Given the description of an element on the screen output the (x, y) to click on. 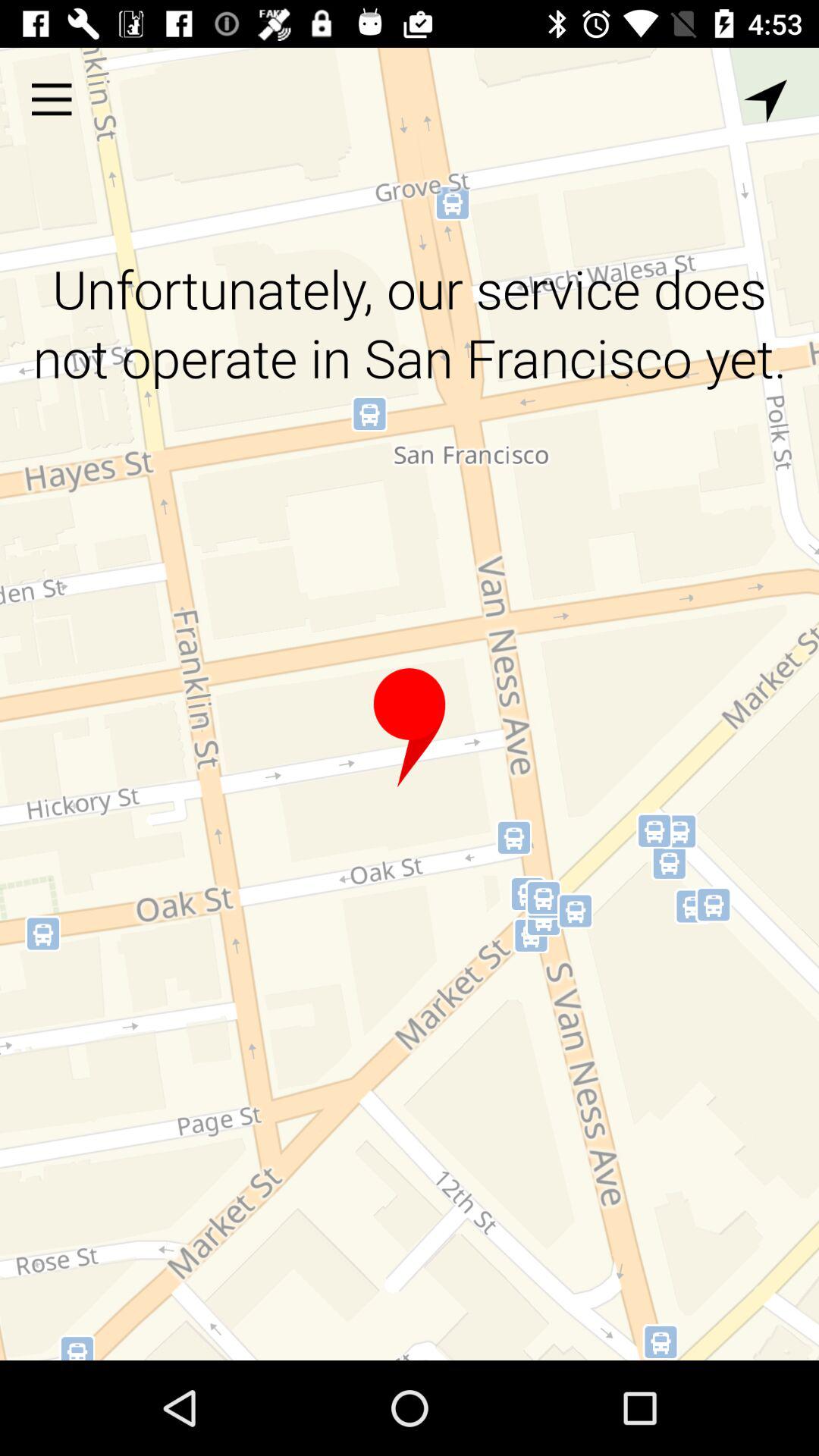
select the icon at the top right corner (765, 100)
